Given the description of an element on the screen output the (x, y) to click on. 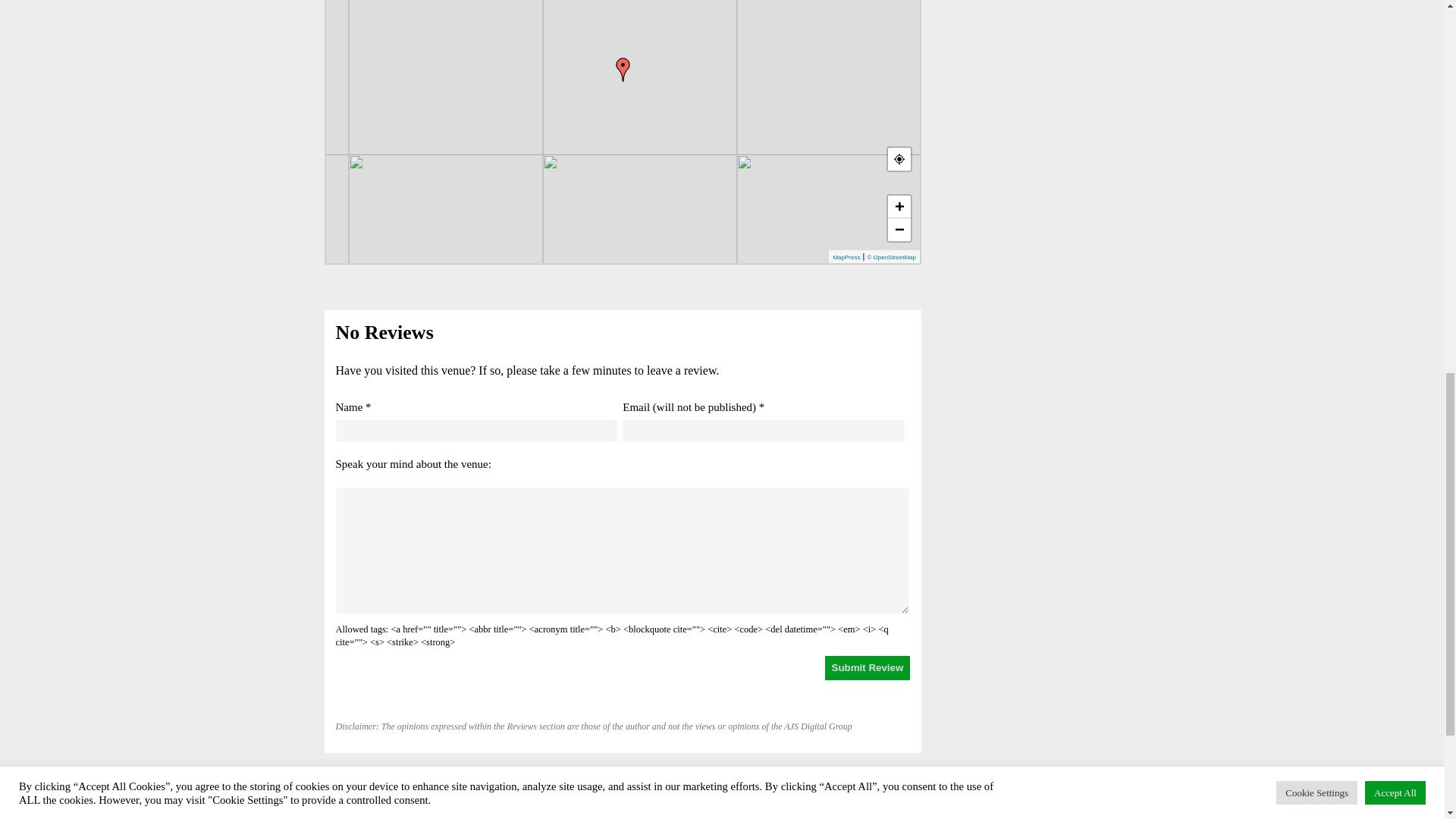
Submit Review (867, 668)
Your Location (899, 158)
Advertisement (1027, 49)
MapPress (846, 257)
Submit Review (867, 668)
